Given the description of an element on the screen output the (x, y) to click on. 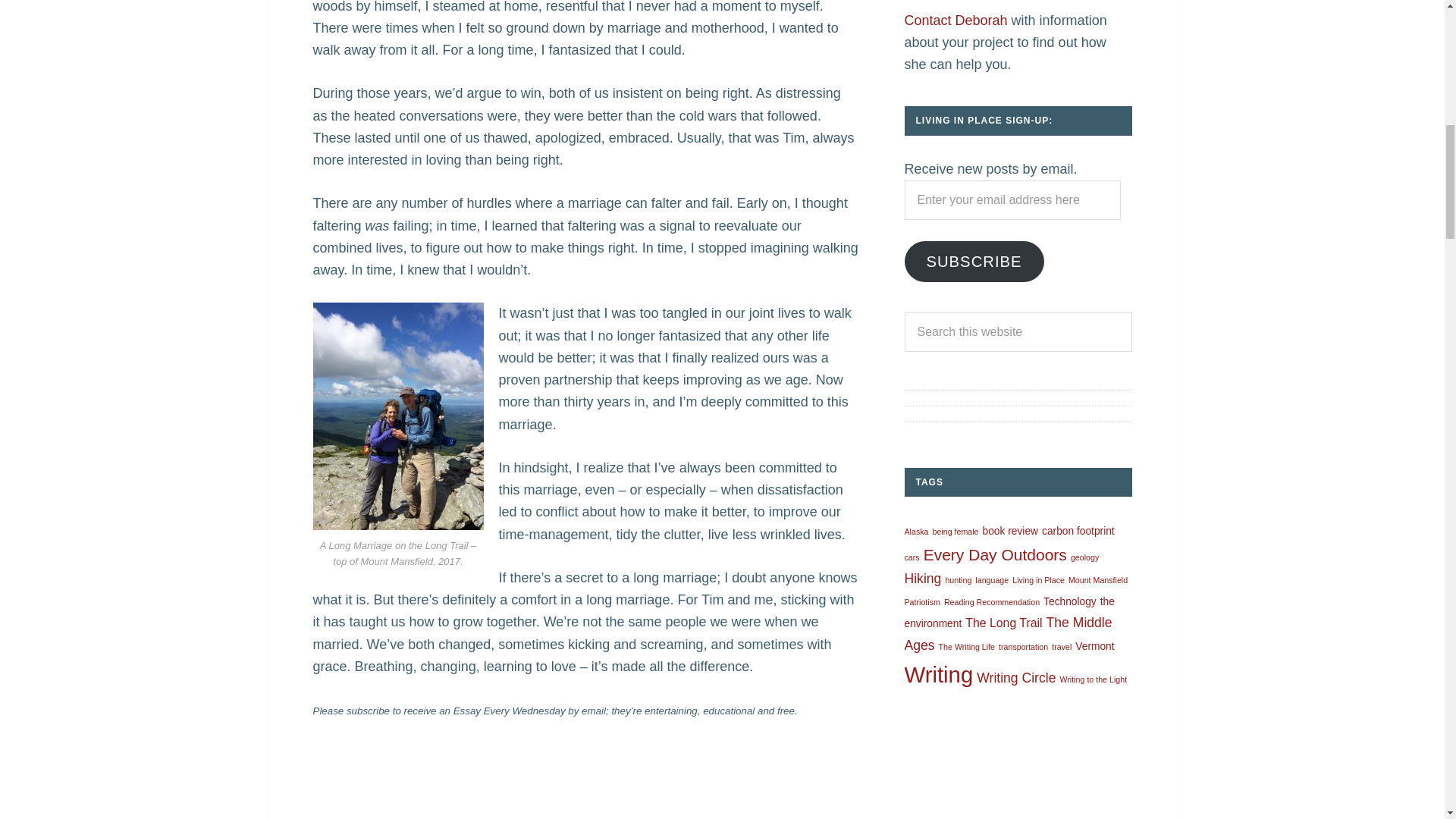
Contact (955, 20)
